Given the description of an element on the screen output the (x, y) to click on. 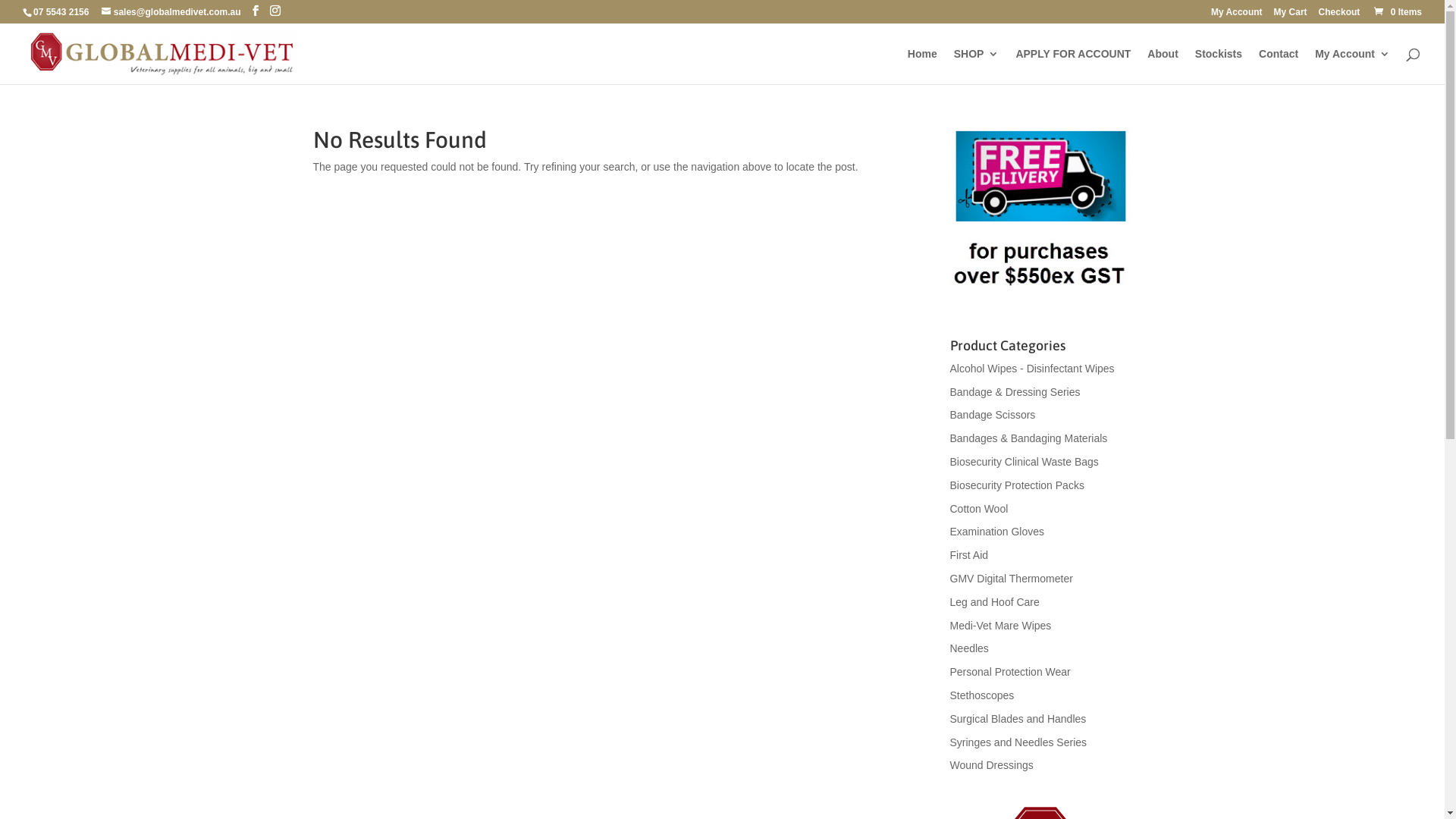
Needles Element type: text (968, 648)
Contact Element type: text (1278, 66)
First Aid Element type: text (968, 555)
sales@globalmedivet.com.au Element type: text (171, 11)
GMV Digital Thermometer Element type: text (1010, 578)
Biosecurity Clinical Waste Bags Element type: text (1023, 461)
Syringes and Needles Series Element type: text (1017, 742)
Personal Protection Wear Element type: text (1009, 671)
Bandage & Dressing Series Element type: text (1014, 391)
Cotton Wool Element type: text (978, 508)
Alcohol Wipes - Disinfectant Wipes Element type: text (1031, 368)
My Cart Element type: text (1290, 15)
About Element type: text (1162, 66)
APPLY FOR ACCOUNT Element type: text (1072, 66)
Biosecurity Protection Packs Element type: text (1016, 485)
Examination Gloves Element type: text (996, 531)
Bandages & Bandaging Materials Element type: text (1028, 438)
Checkout Element type: text (1339, 15)
Home Element type: text (922, 66)
Wound Dressings Element type: text (990, 765)
Medi-Vet Mare Wipes Element type: text (1000, 625)
Surgical Blades and Handles Element type: text (1017, 718)
Stethoscopes Element type: text (981, 695)
Stockists Element type: text (1218, 66)
SHOP Element type: text (976, 66)
Bandage Scissors Element type: text (992, 414)
0 Items Element type: text (1396, 11)
My Account Element type: text (1236, 15)
Leg and Hoof Care Element type: text (993, 602)
My Account Element type: text (1352, 66)
